Given the description of an element on the screen output the (x, y) to click on. 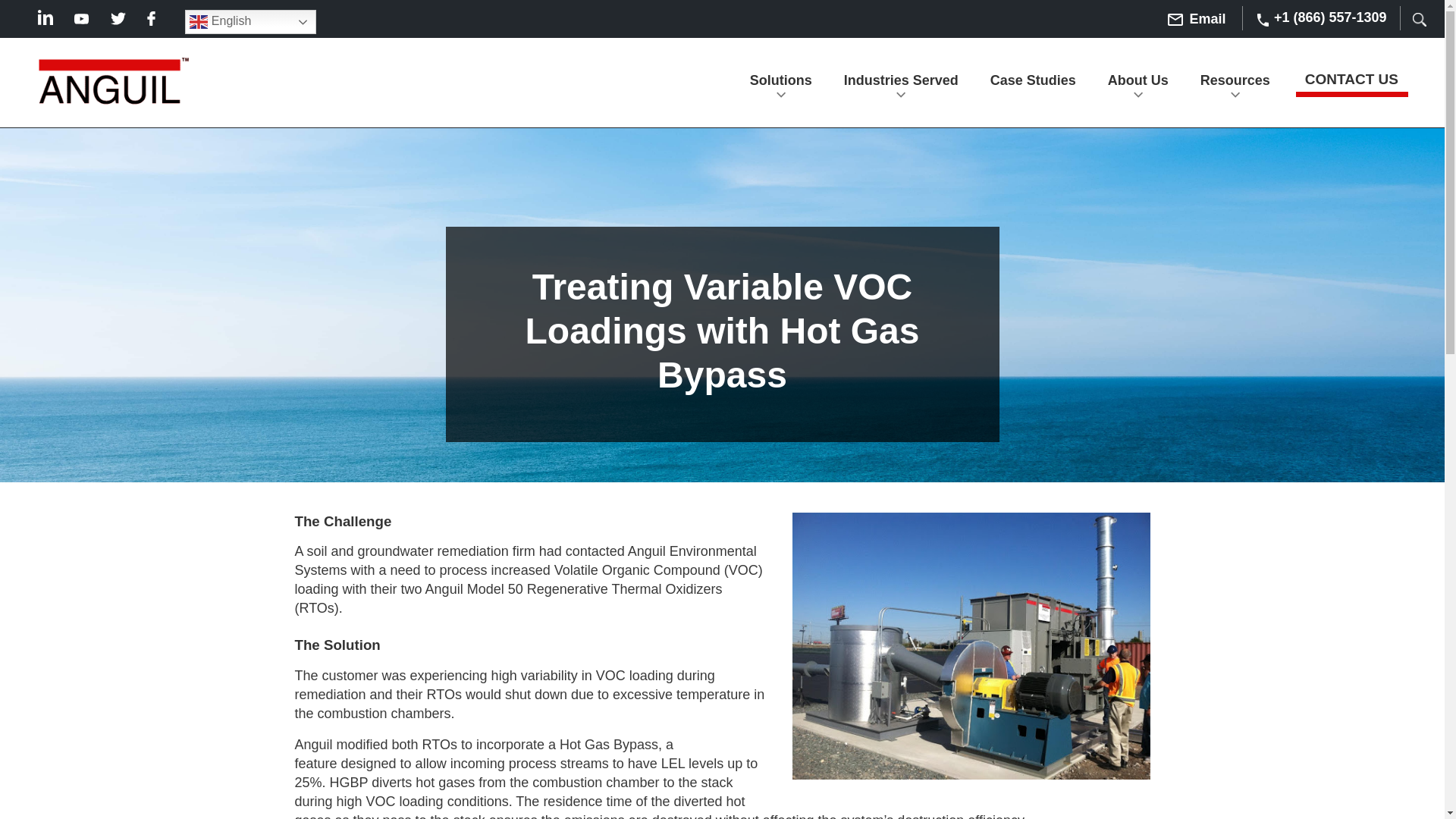
Email (1196, 19)
Anguil (113, 83)
LinkedIn (44, 17)
Youtube (81, 18)
English (249, 21)
CONTACT US (1351, 77)
Twitter (117, 18)
